Given the description of an element on the screen output the (x, y) to click on. 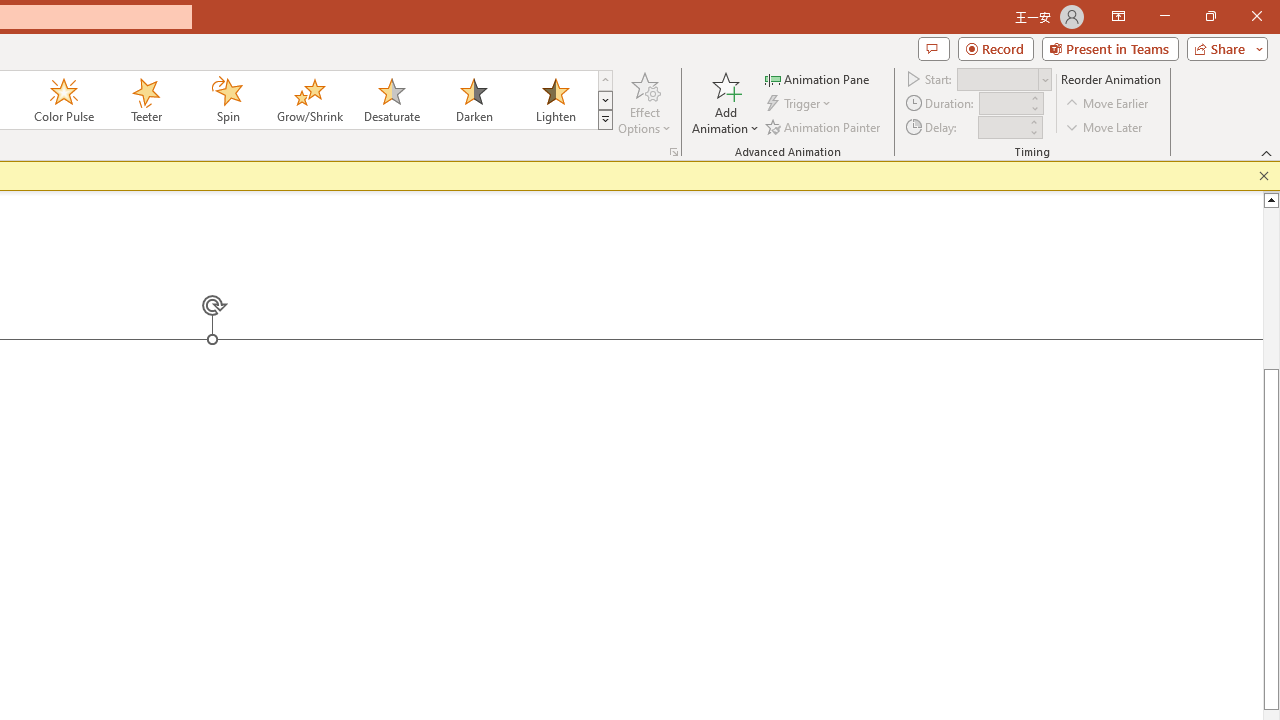
Animation Pane (818, 78)
Animation Delay (1002, 127)
Grow/Shrink (309, 100)
Effect Options (644, 102)
Animation Duration (1003, 103)
Spin (227, 100)
